Given the description of an element on the screen output the (x, y) to click on. 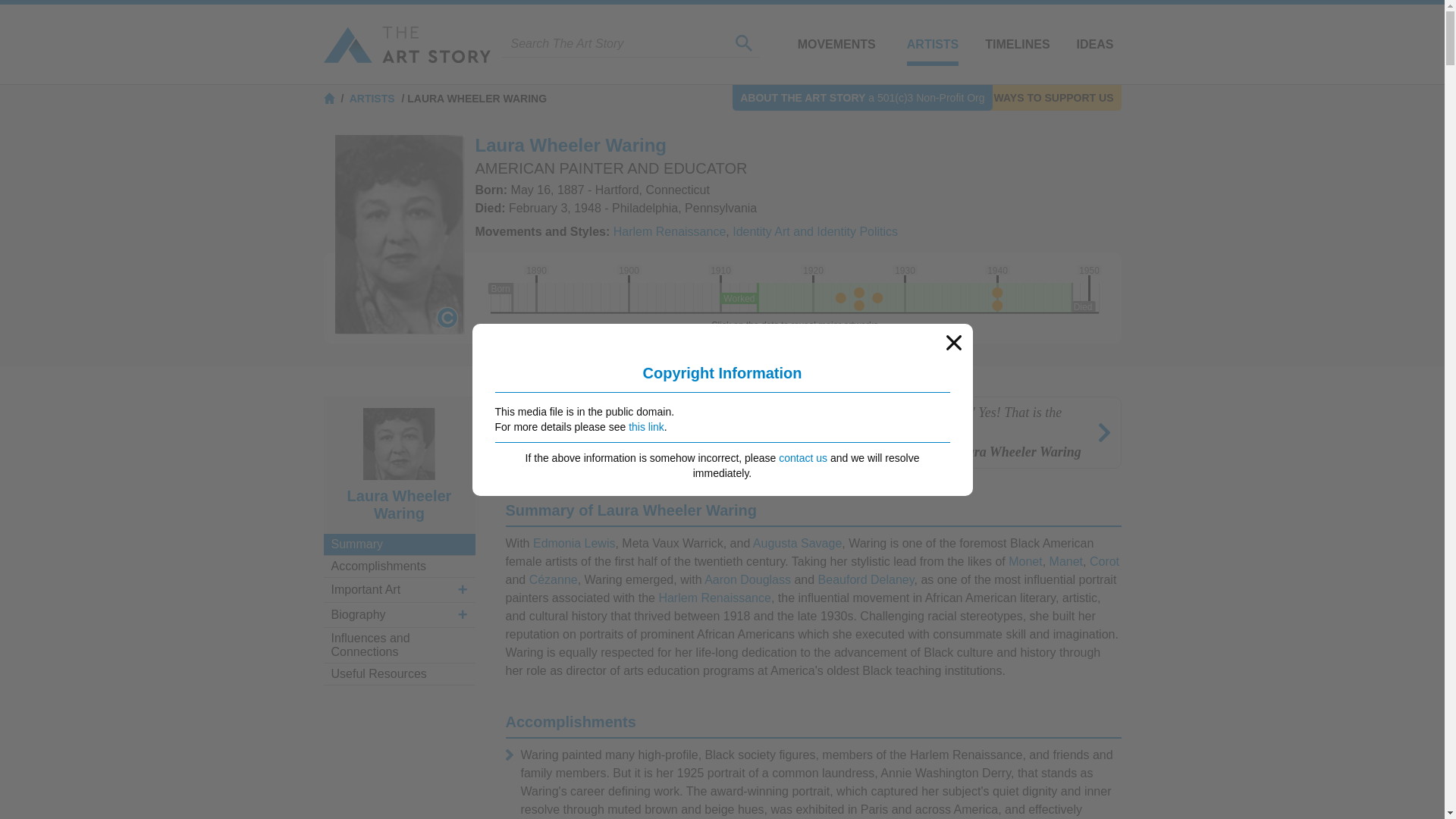
TIMELINES (1017, 43)
Edmonia Lewis (573, 543)
Aaron Douglass (747, 579)
Harlem Renaissance (669, 231)
Identity Art and Identity Politics (815, 231)
The Art Story (406, 43)
Harlem Renaissance (714, 597)
Monet (1025, 561)
Beauford Delaney (866, 579)
Manet (1066, 561)
Corot (1104, 561)
IDEAS (1095, 43)
Augusta Savage (796, 543)
MOVEMENTS (836, 43)
